Given the description of an element on the screen output the (x, y) to click on. 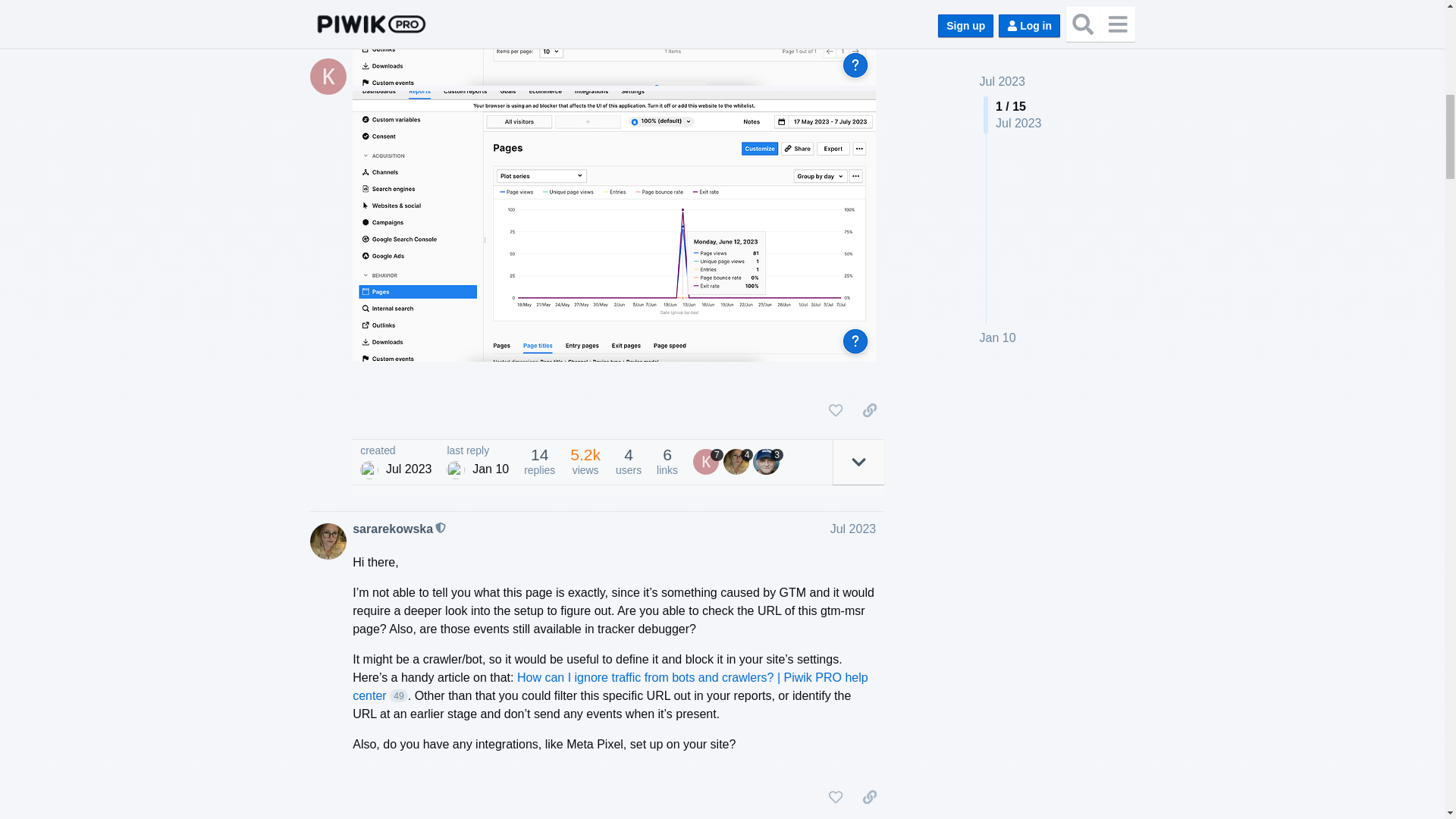
last reply (477, 450)
Screen Shot 2023-07-10 at 10.22.51 AM (614, 42)
like this post (835, 410)
expand topic details (857, 461)
4 (738, 461)
Jul 12, 2023 6:41 pm (408, 468)
Jul 2023 (852, 528)
7 (708, 461)
sararekowska (392, 528)
3 (767, 461)
ken (368, 470)
copy a link to this post to clipboard (869, 410)
